Given the description of an element on the screen output the (x, y) to click on. 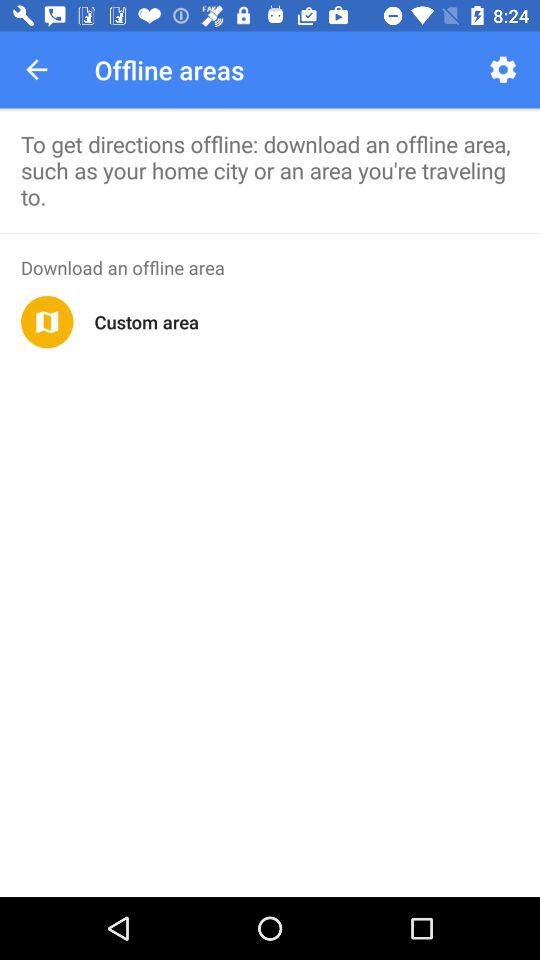
flip to custom area app (146, 321)
